Given the description of an element on the screen output the (x, y) to click on. 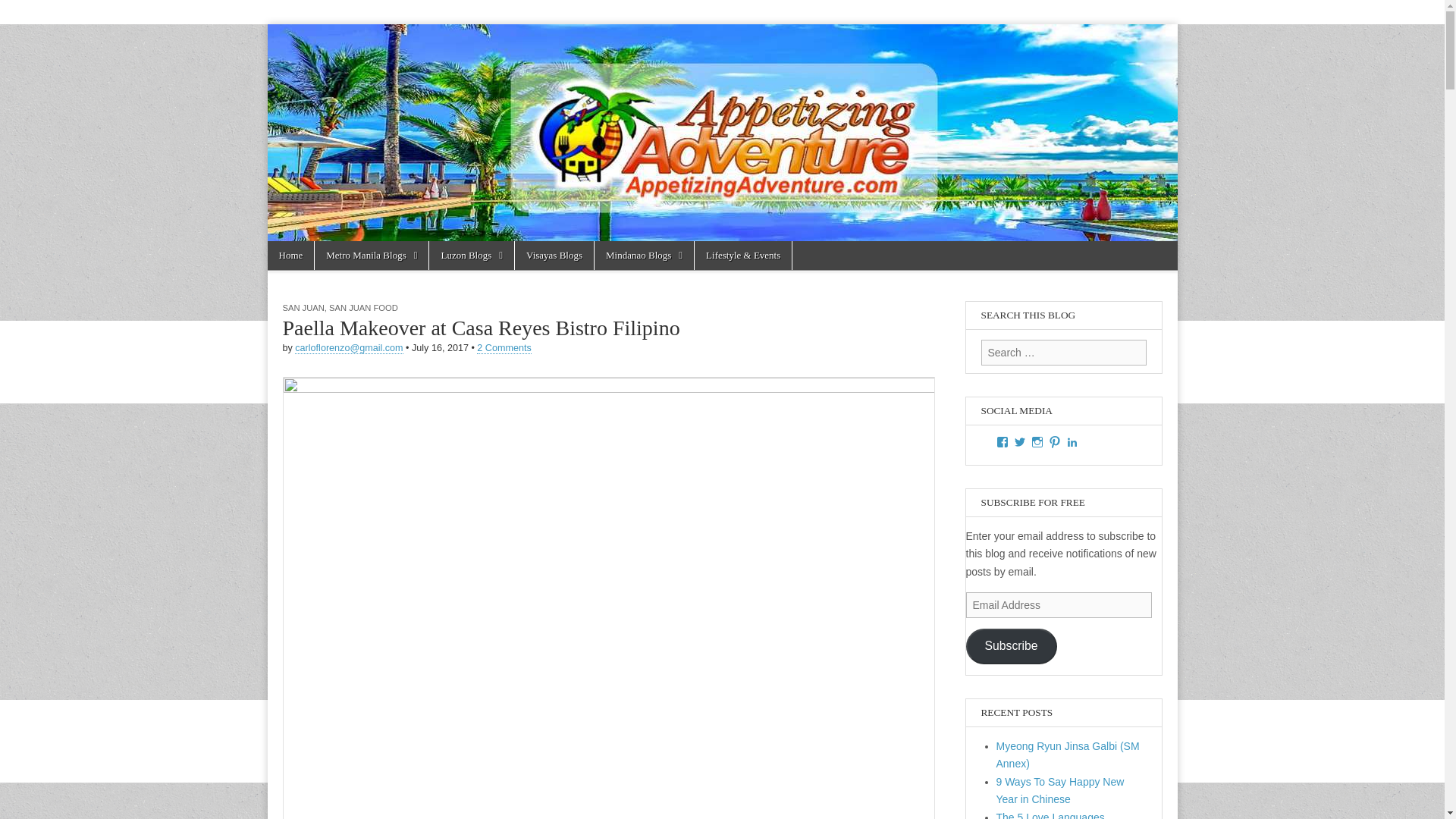
Metro Manila Blogs (371, 255)
2 Comments (504, 348)
Home (290, 255)
Visayas Blogs (554, 255)
Appetizing Adventure (363, 82)
SAN JUAN FOOD (363, 307)
Luzon Blogs (471, 255)
SAN JUAN (302, 307)
Mindanao Blogs (644, 255)
Appetizing Adventure (363, 82)
